Given the description of an element on the screen output the (x, y) to click on. 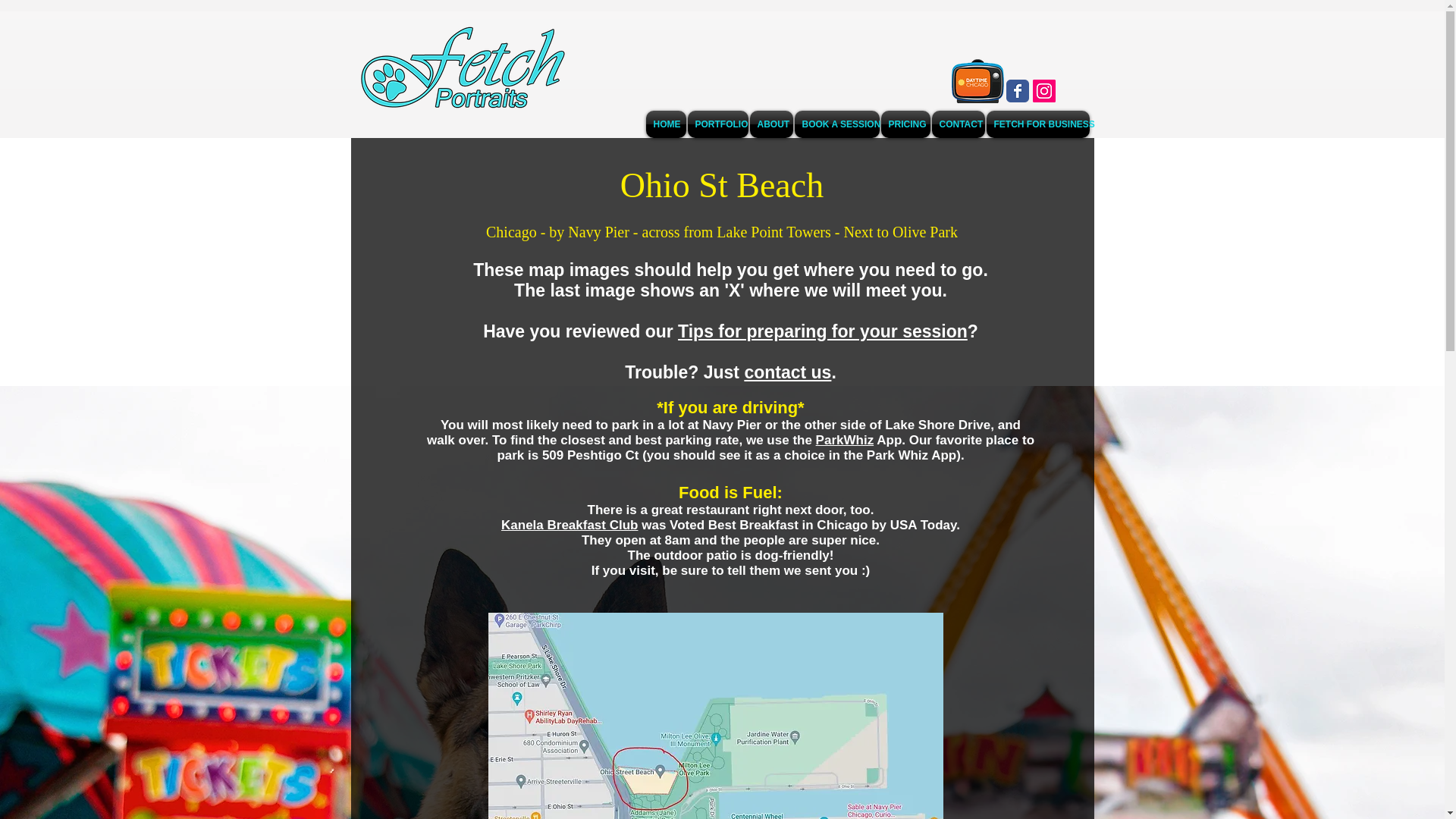
ParkWhiz (845, 440)
BOOK A SESSION (836, 124)
Kanela Breakfast Club (568, 524)
FETCH FOR BUSINESS (1037, 124)
Tips for preparing for your session (823, 331)
PORTFOLIO (718, 124)
ABOUT (771, 124)
contact us (787, 372)
HOME (665, 124)
PRICING (904, 124)
CONTACT (958, 124)
